Given the description of an element on the screen output the (x, y) to click on. 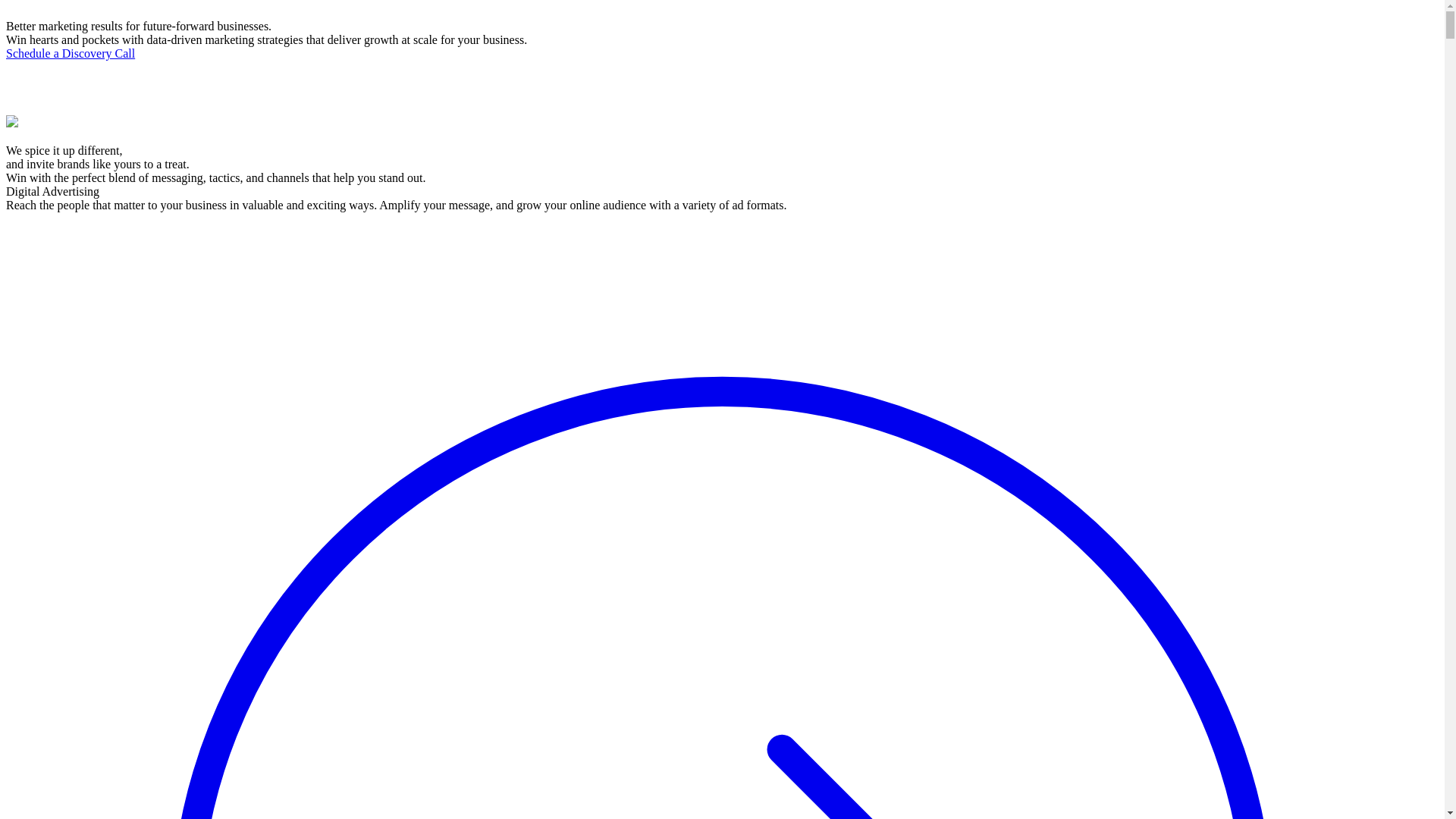
Schedule a Discovery Call Element type: text (70, 53)
